Given the description of an element on the screen output the (x, y) to click on. 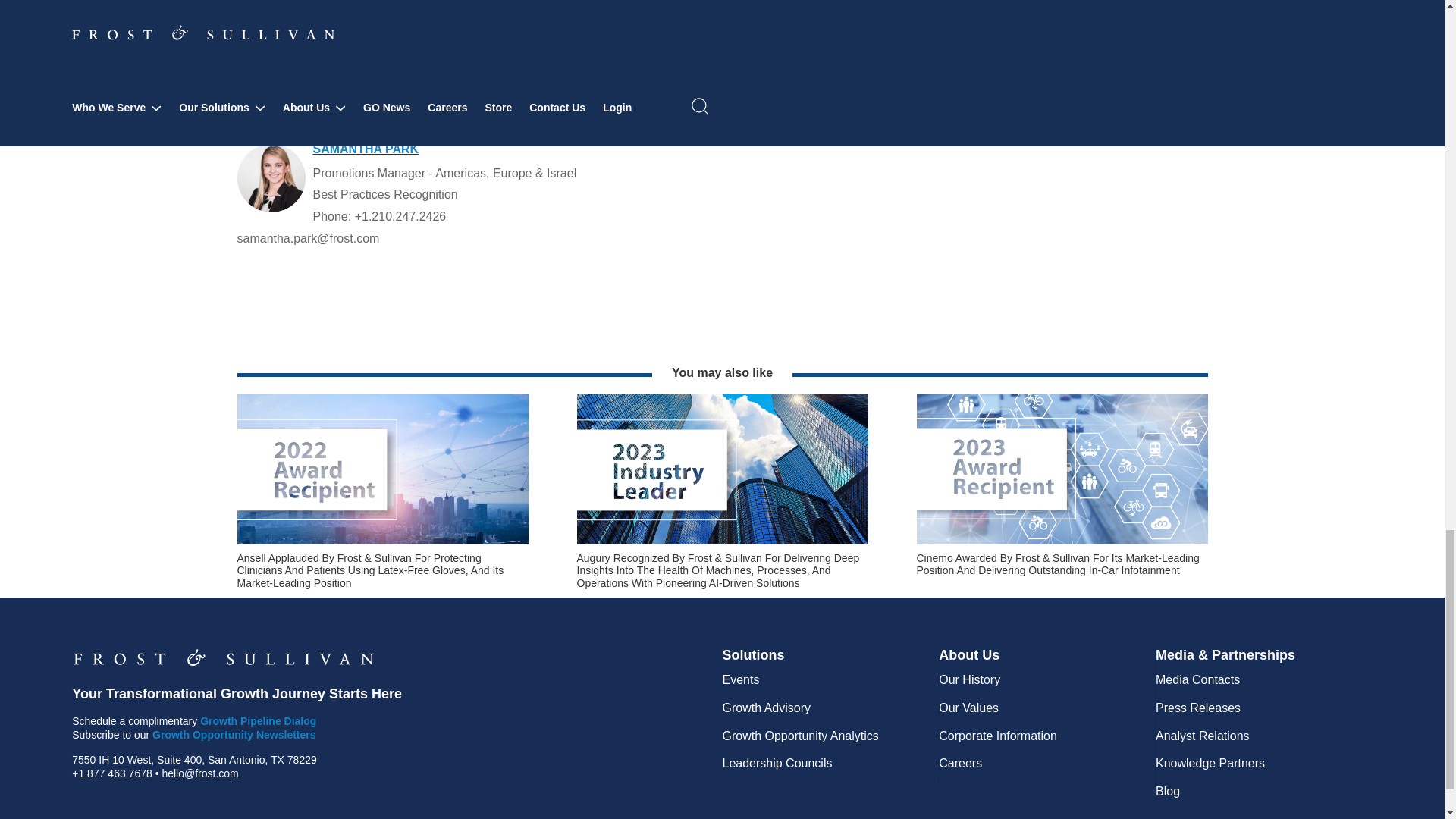
frostsullivanlogo (223, 656)
